Given the description of an element on the screen output the (x, y) to click on. 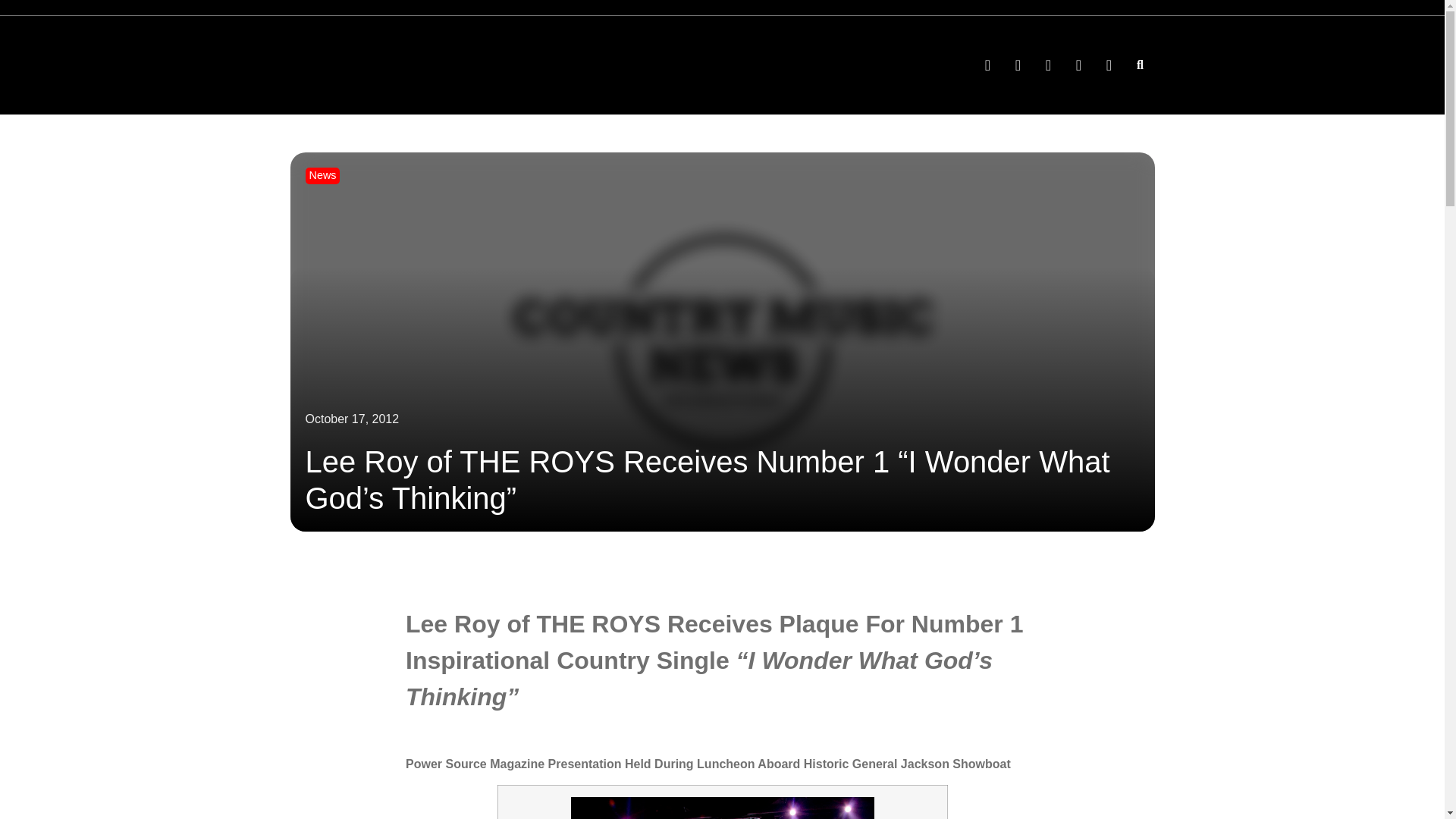
News (322, 174)
